Given the description of an element on the screen output the (x, y) to click on. 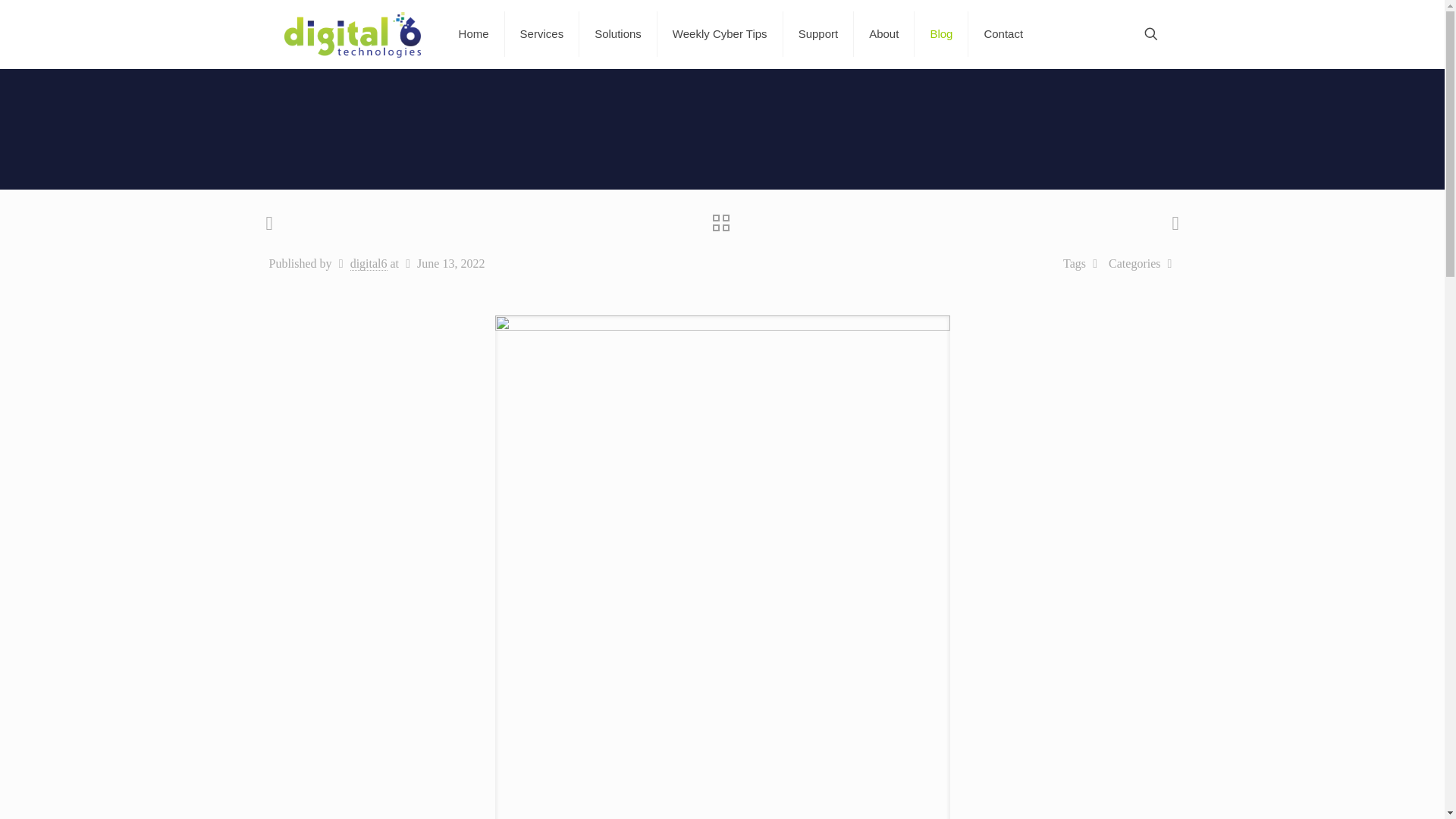
Home (474, 33)
Support (818, 33)
Weekly Cyber Tips (720, 33)
Digital6 Technologies (351, 33)
Solutions (618, 33)
About (883, 33)
Services (542, 33)
digital6 (368, 264)
Contact (1003, 33)
